Given the description of an element on the screen output the (x, y) to click on. 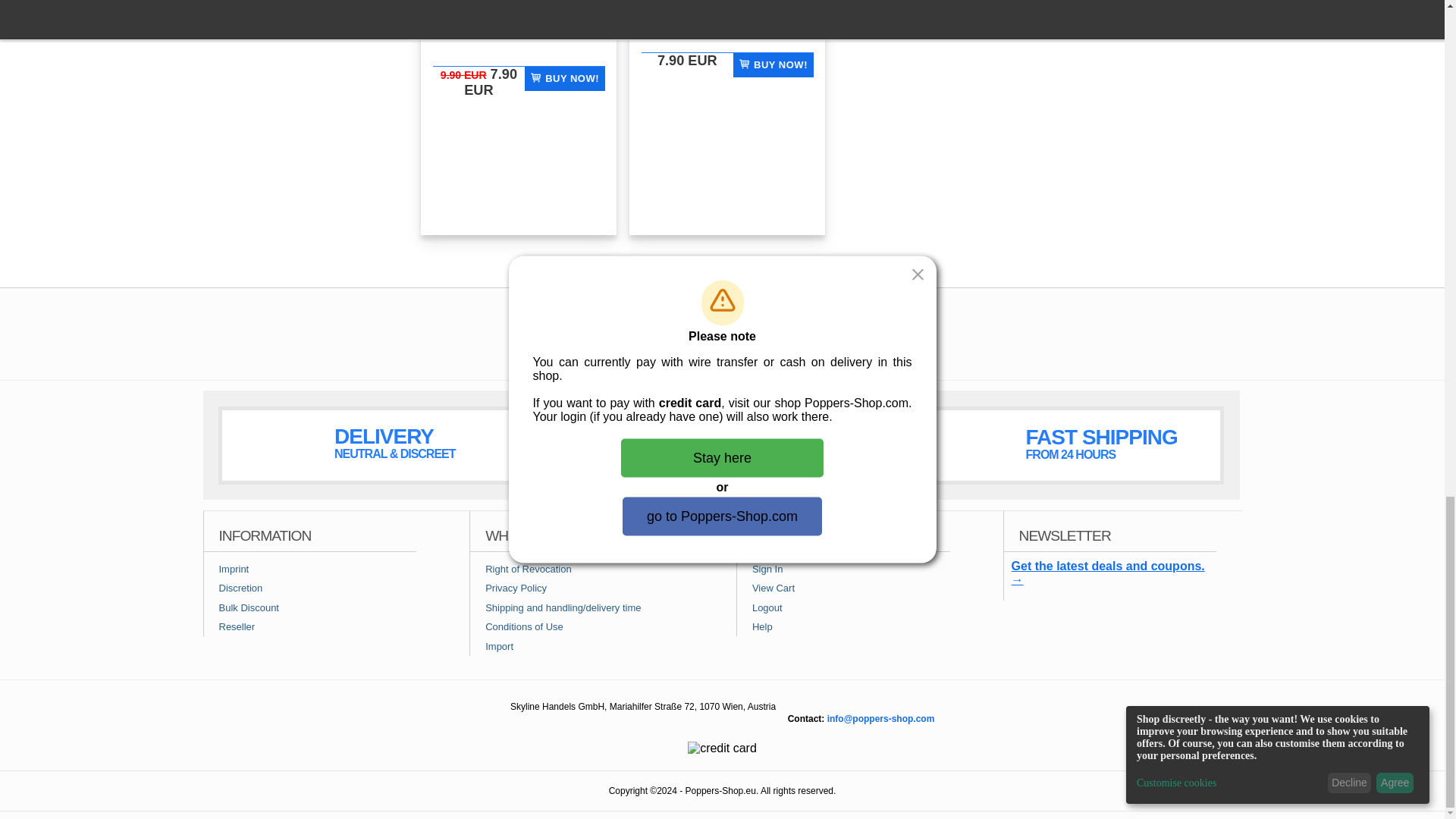
Facebook (660, 341)
Twitter (784, 341)
credit card (722, 748)
